Given the description of an element on the screen output the (x, y) to click on. 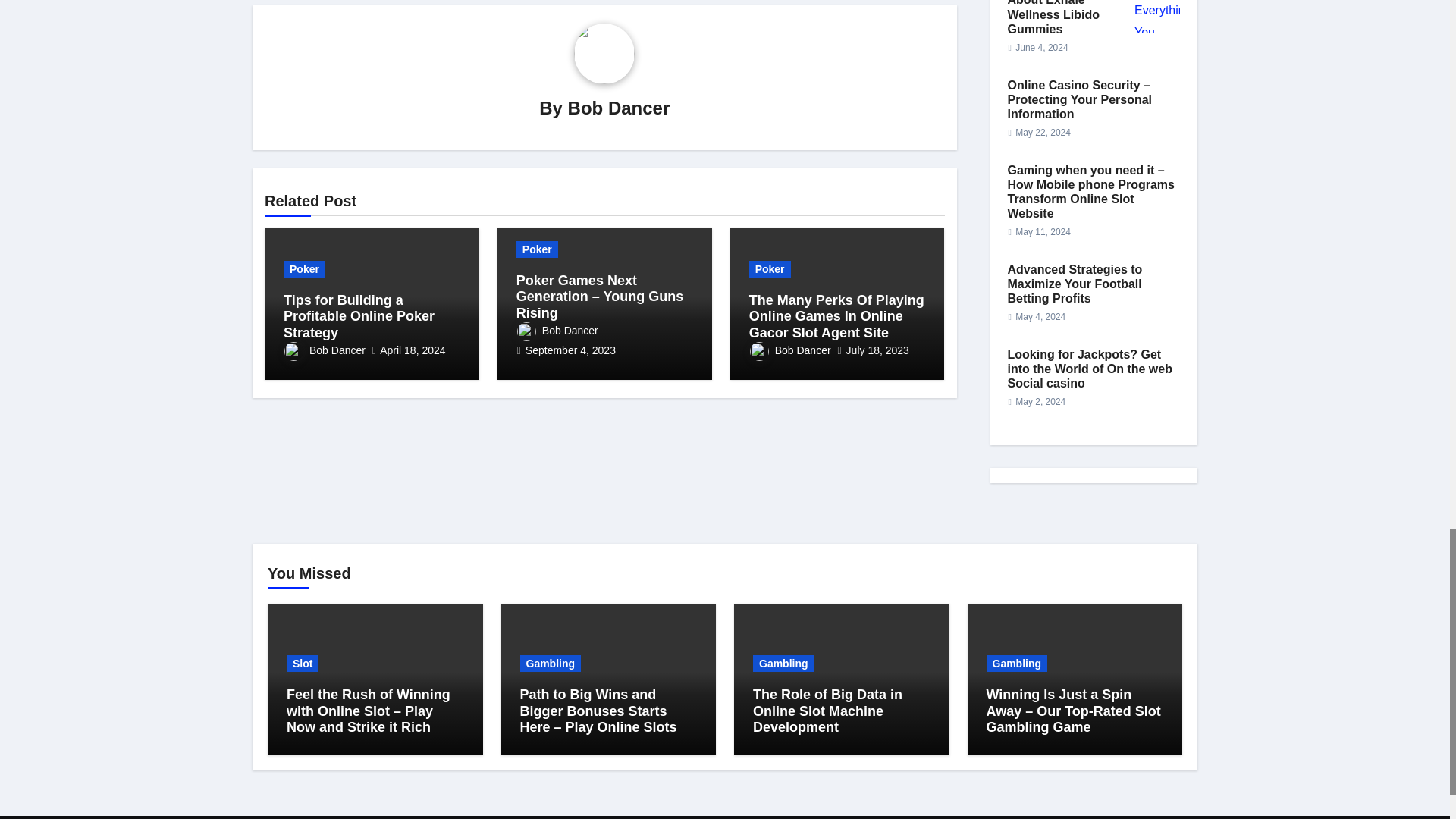
Bob Dancer (618, 107)
Poker (303, 269)
